Given the description of an element on the screen output the (x, y) to click on. 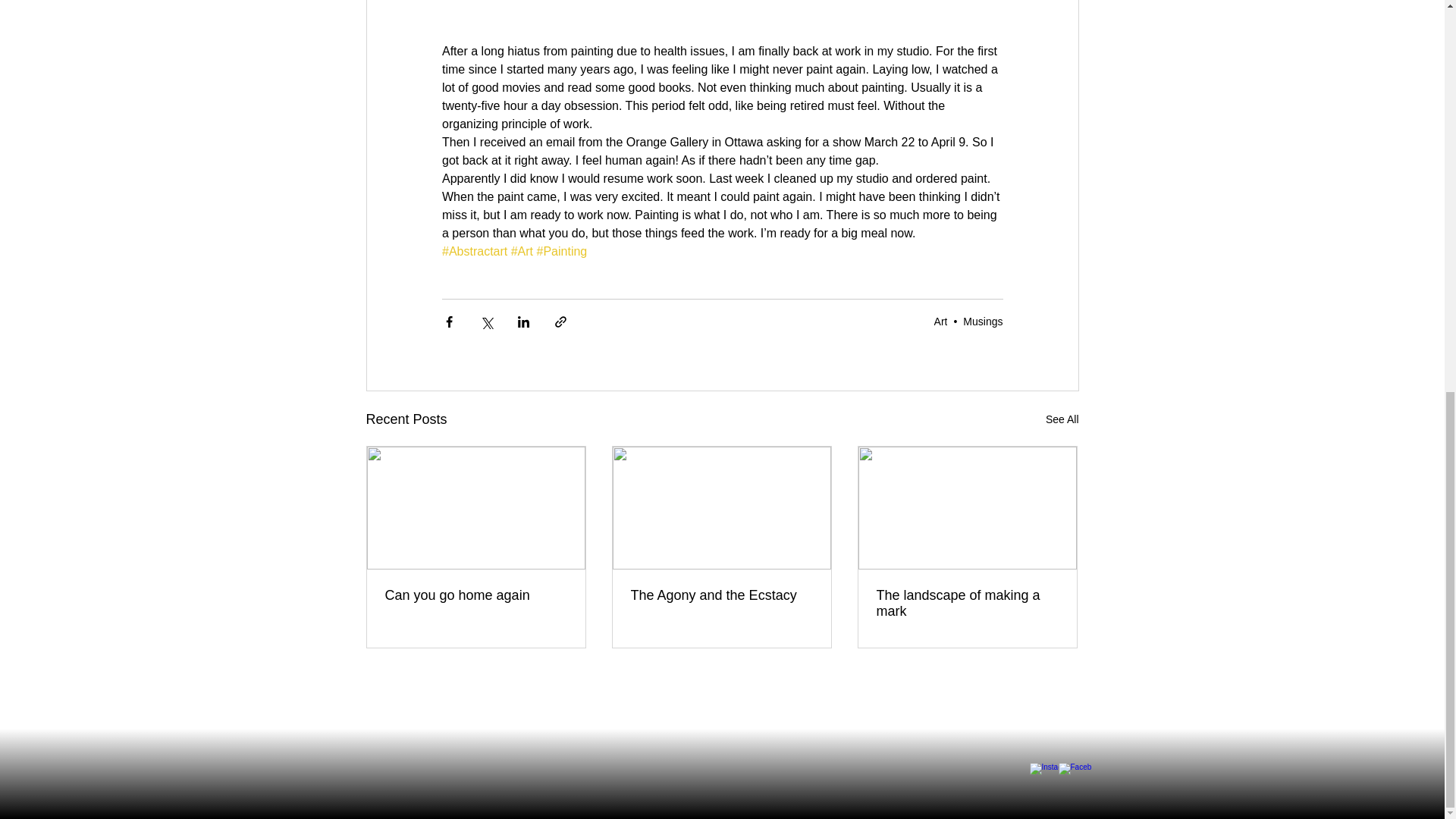
See All (1061, 419)
Can you go home again (476, 595)
Art (940, 321)
Musings (982, 321)
